Given the description of an element on the screen output the (x, y) to click on. 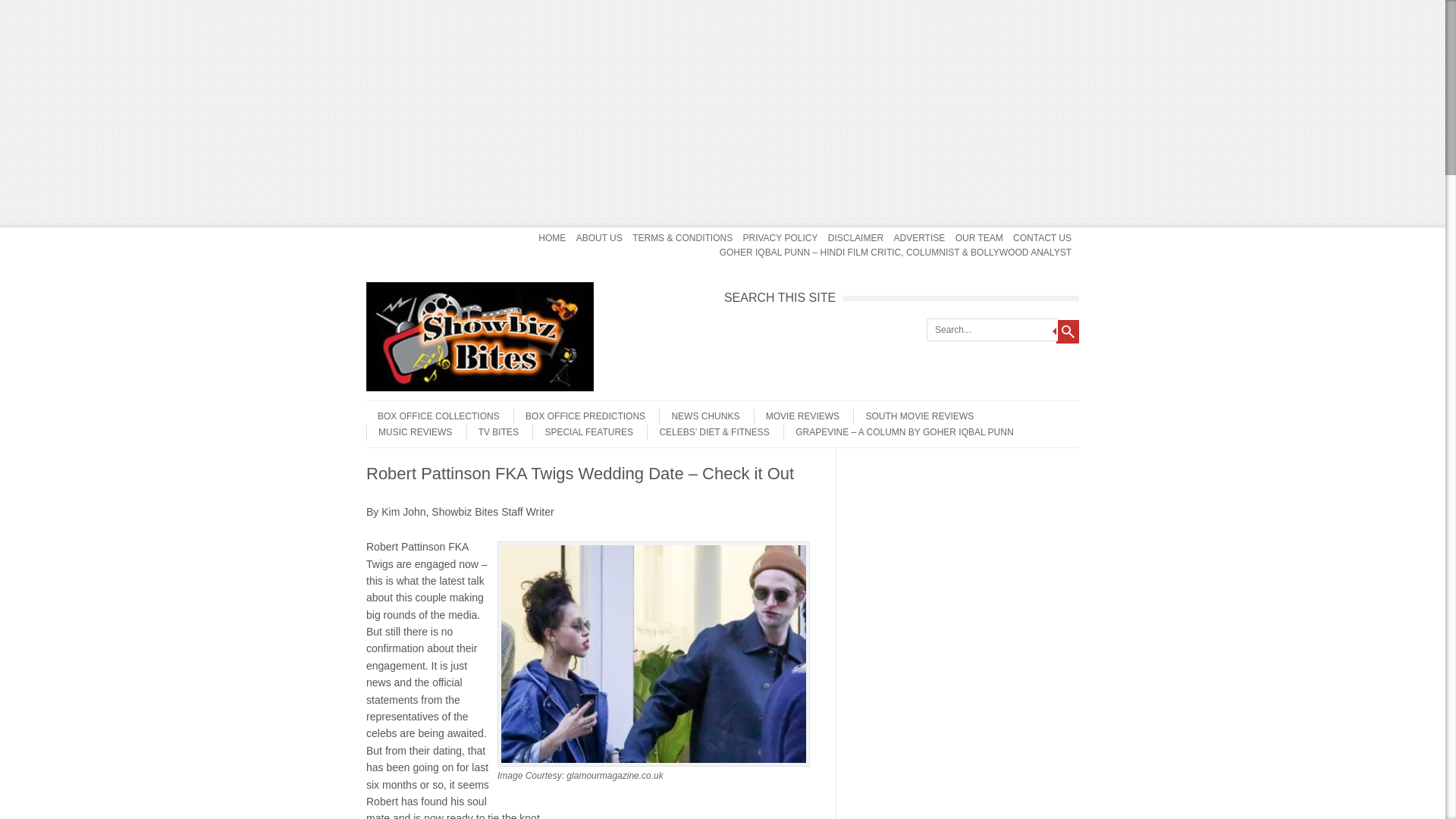
NEWS CHUNKS (699, 416)
OUR TEAM (979, 237)
BOX OFFICE COLLECTIONS (432, 416)
SOUTH MOVIE REVIEWS (913, 416)
PRIVACY POLICY (779, 237)
CONTACT US (1042, 237)
Skip to content (396, 405)
Skip to content (396, 231)
ABOUT US (599, 237)
MOVIE REVIEWS (797, 416)
